Given the description of an element on the screen output the (x, y) to click on. 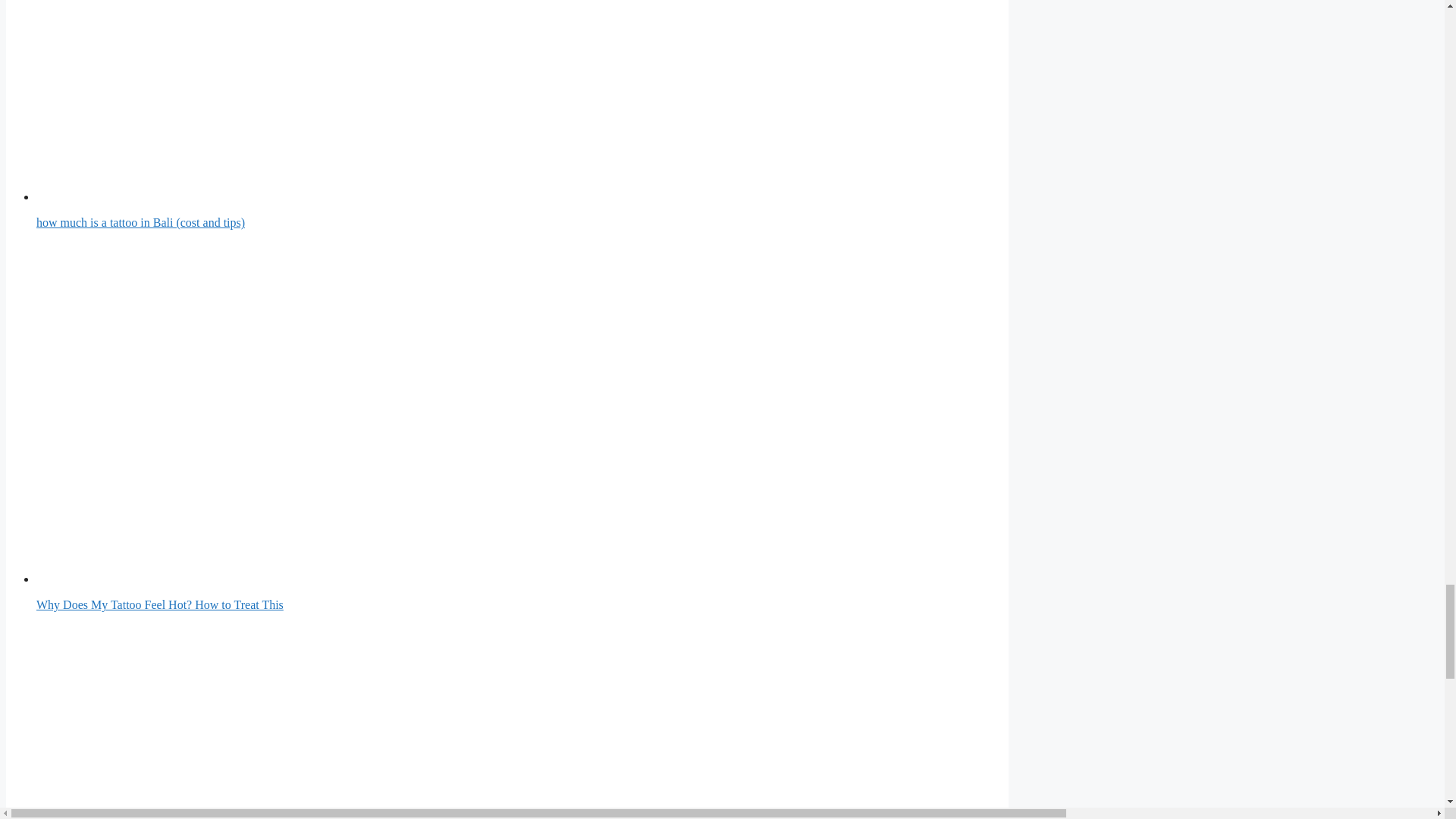
Can You Smoke Weed After Getting a Tattoo? (407, 721)
